Given the description of an element on the screen output the (x, y) to click on. 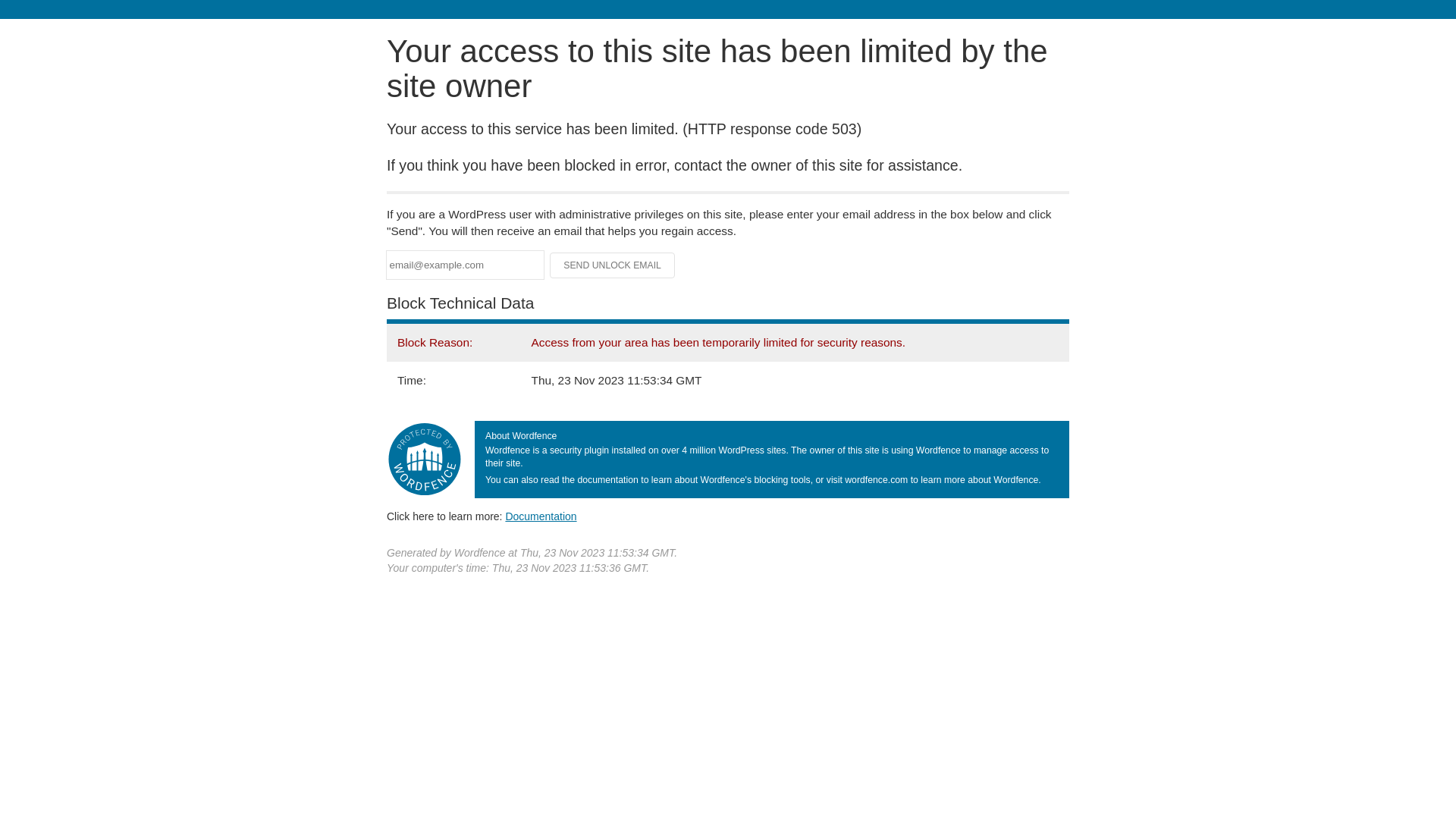
Documentation Element type: text (540, 516)
Send Unlock Email Element type: text (612, 265)
